Given the description of an element on the screen output the (x, y) to click on. 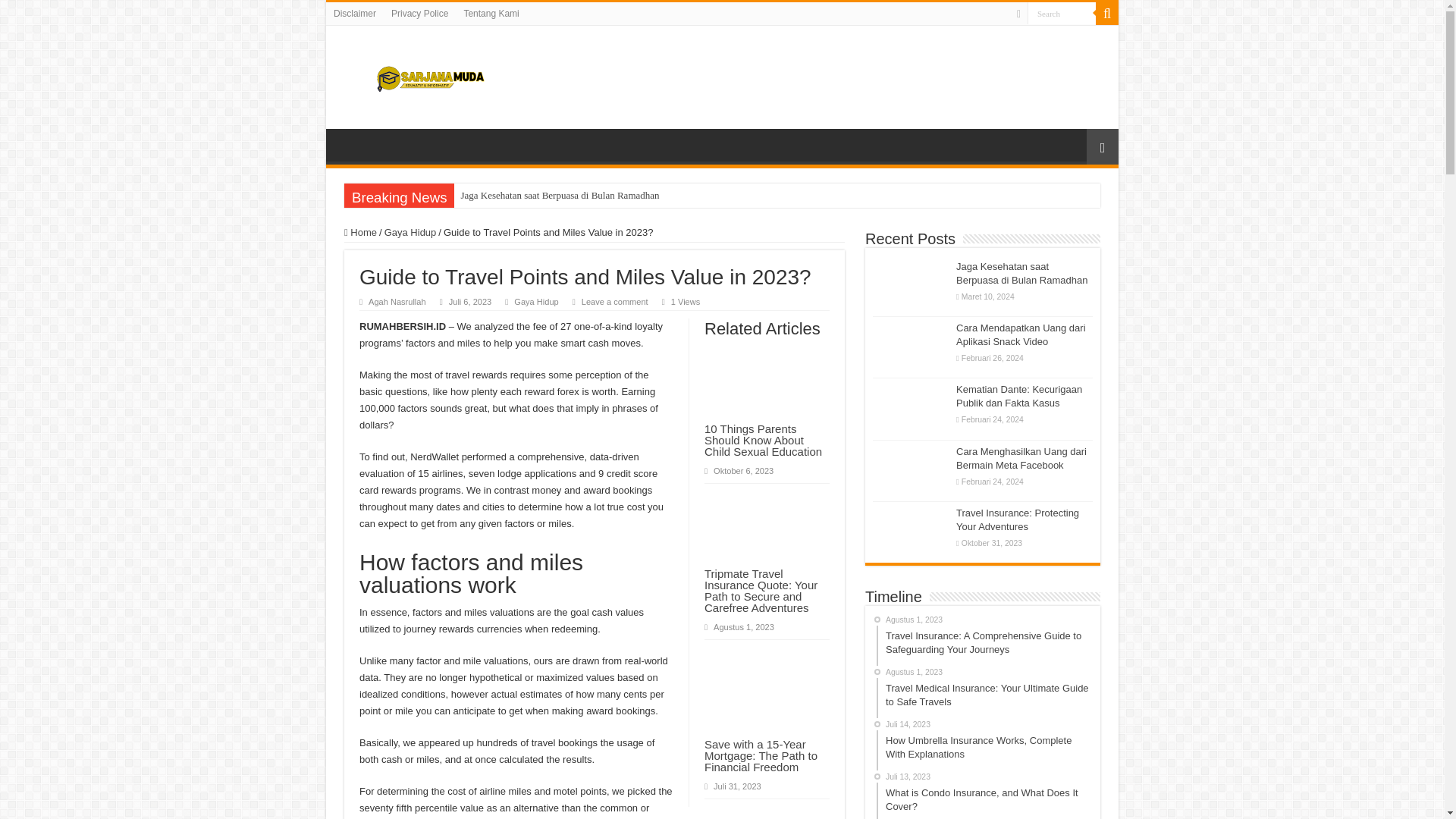
Random Article (1102, 146)
Search (1061, 13)
Search (1107, 13)
Privacy Police (419, 13)
Agah Nasrullah (397, 301)
Leave a comment (613, 301)
Gaya Hidup (535, 301)
Jaga Kesehatan saat Berpuasa di Bulan Ramadhan (610, 195)
Tentang Kami (490, 13)
Search (1061, 13)
Gaya Hidup (410, 232)
Home (360, 232)
Search (1061, 13)
10 Things Parents Should Know About Child Sexual Education (763, 439)
